Given the description of an element on the screen output the (x, y) to click on. 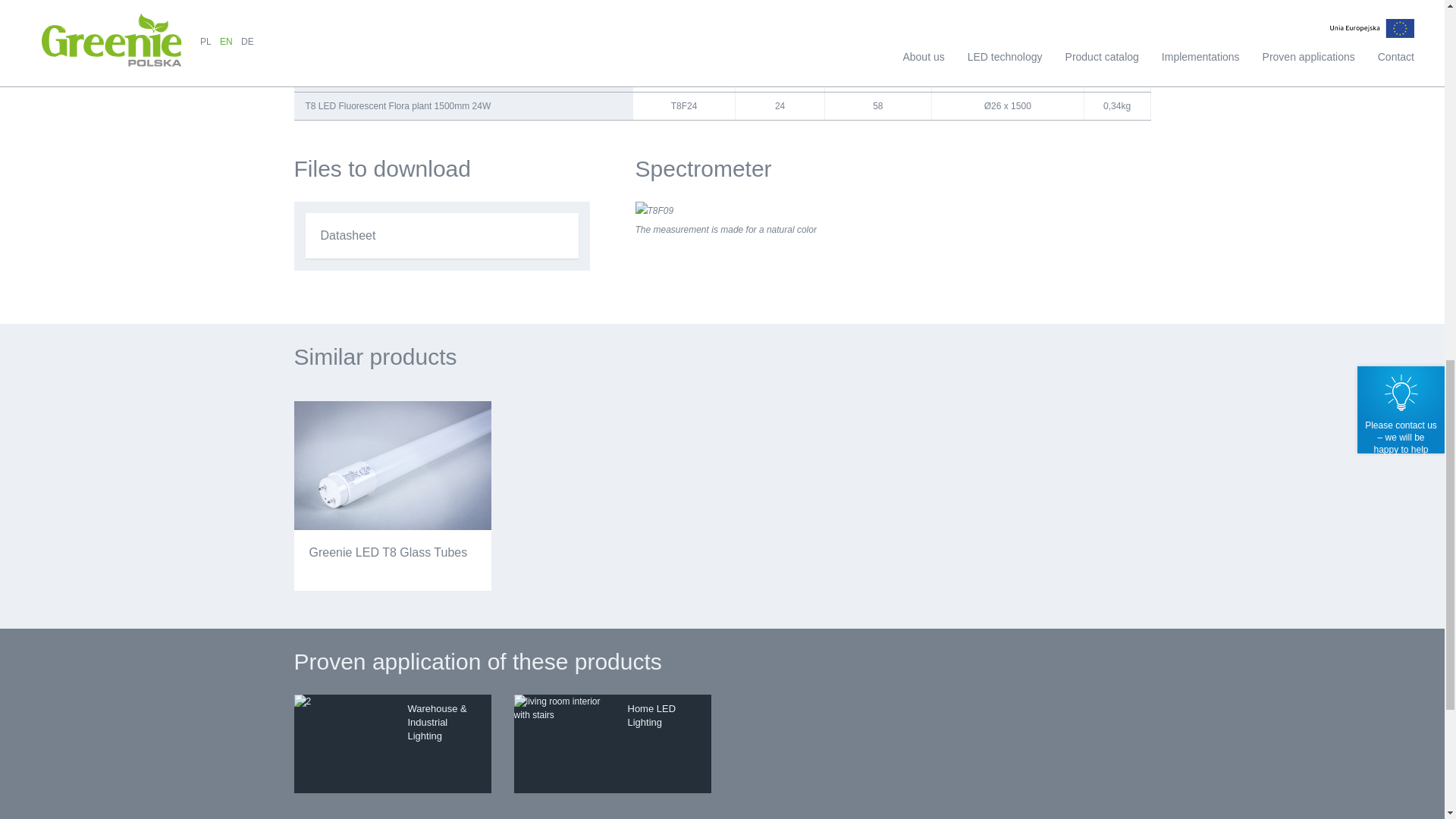
Home LED Lighting (612, 743)
Greenie LED T8 Glass Tubes (393, 495)
Datasheet (441, 235)
